Given the description of an element on the screen output the (x, y) to click on. 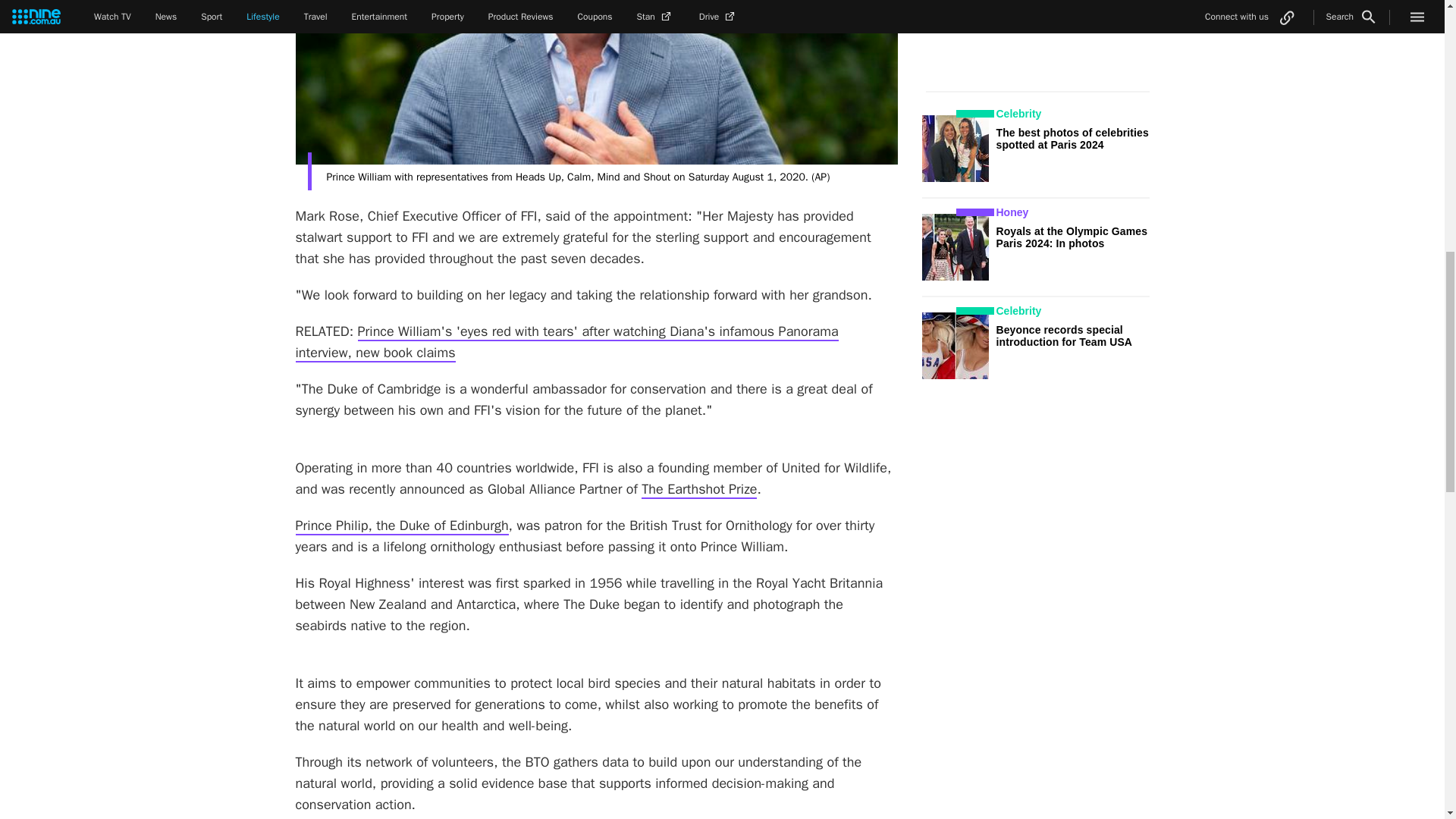
The Earthshot Prize (699, 489)
Prince Philip, the Duke of Edinburgh (401, 525)
